Given the description of an element on the screen output the (x, y) to click on. 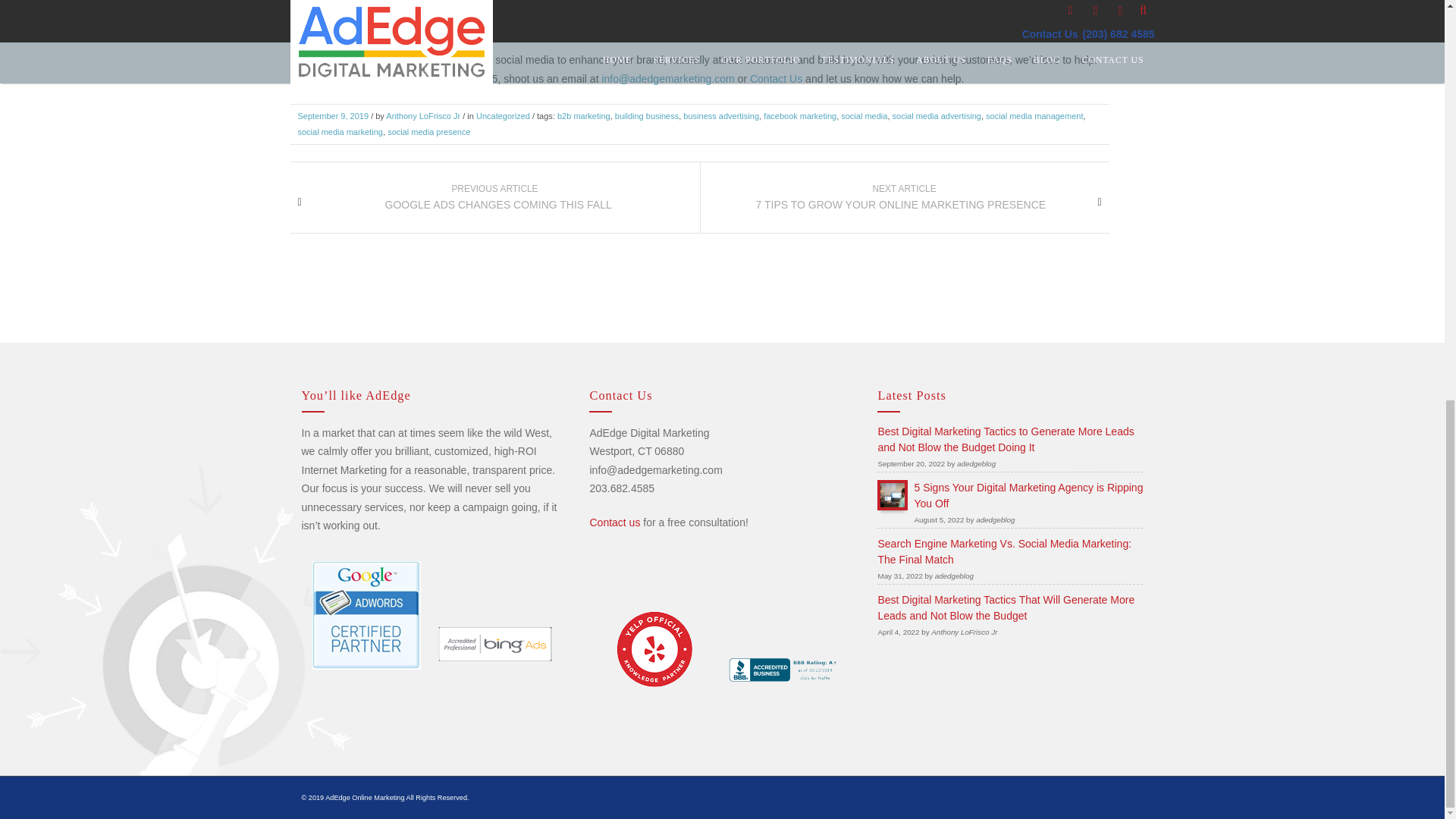
View all posts by Anthony LoFrisco Jr (422, 115)
5 Signs Your Digital Marketing Agency is Ripping You Off (1028, 495)
